Given the description of an element on the screen output the (x, y) to click on. 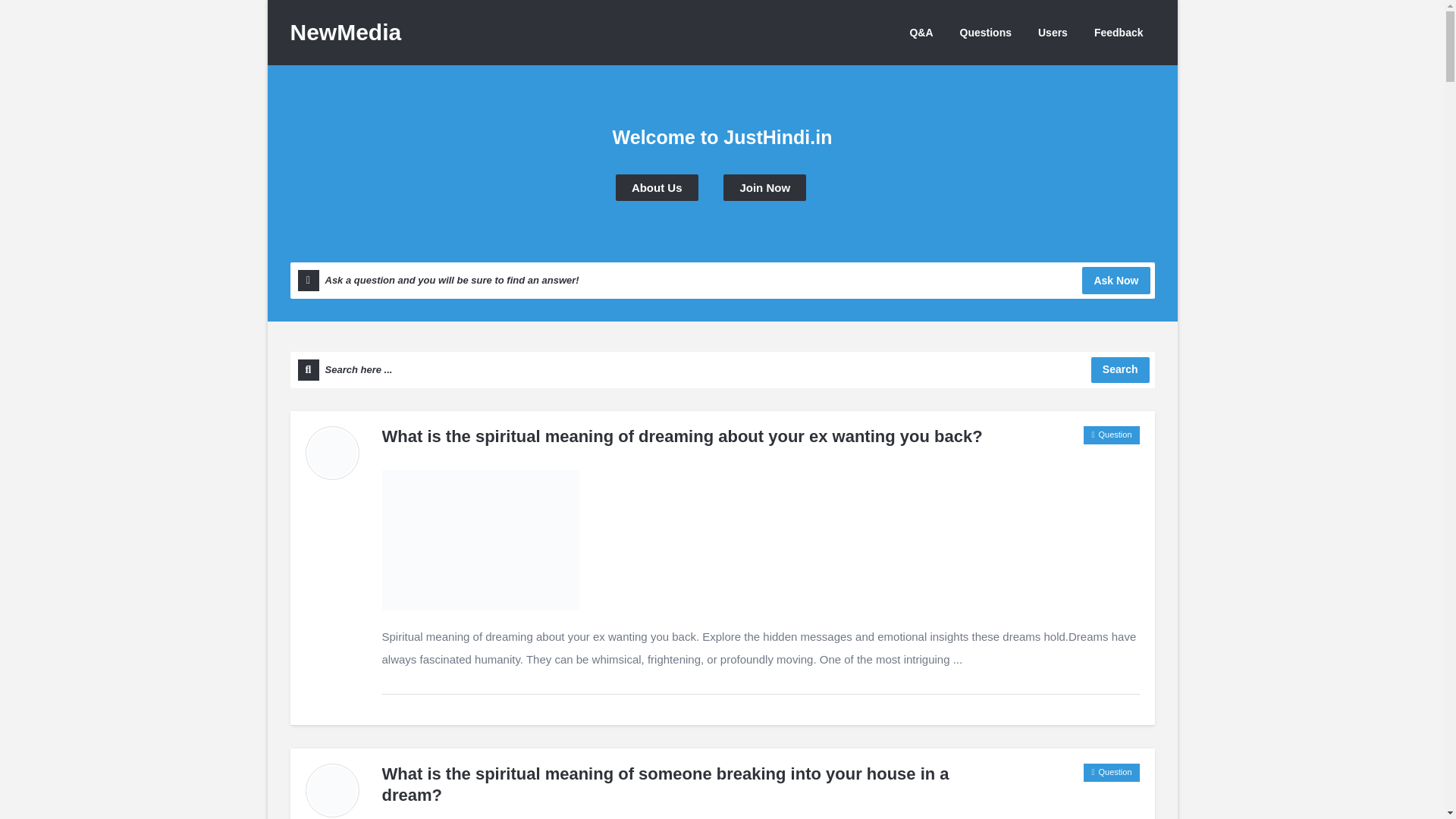
Ask a question and you will be sure to find an answer! (721, 280)
NewMedia (345, 32)
NewMedia (345, 32)
Search here ... (721, 370)
Search here ... (721, 370)
Users (1052, 31)
About Us (656, 187)
